Given the description of an element on the screen output the (x, y) to click on. 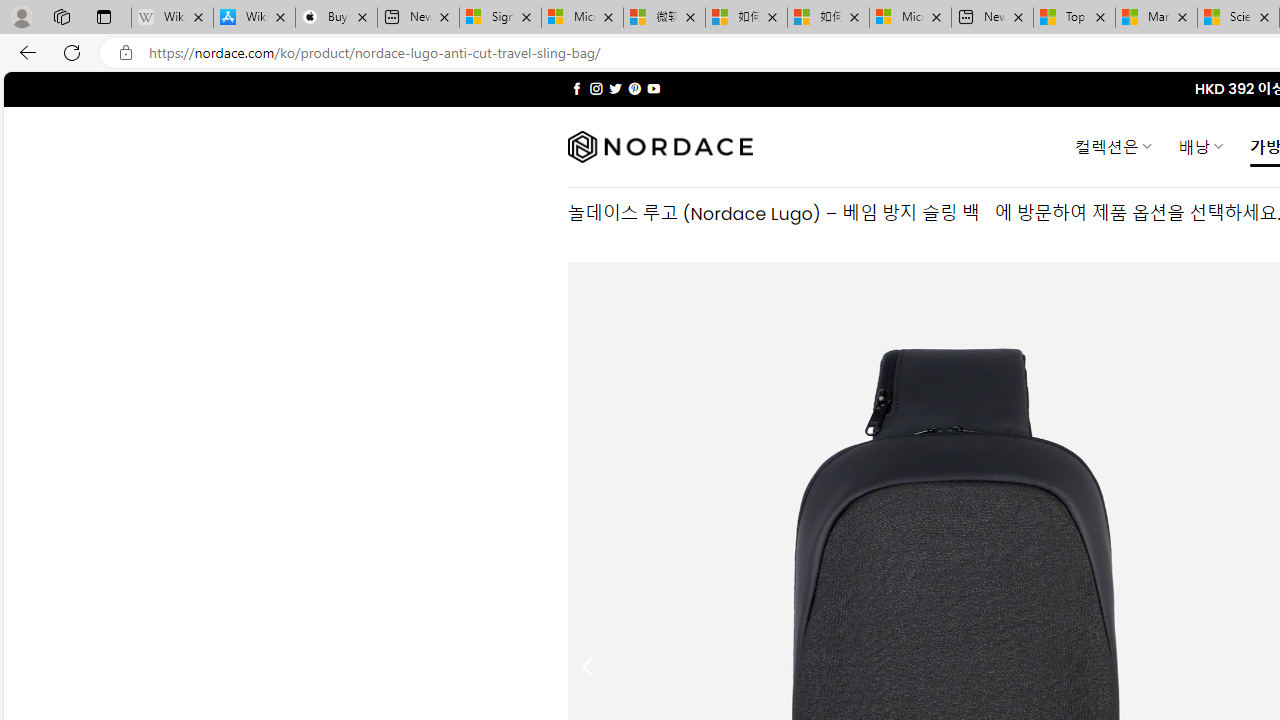
Microsoft Services Agreement (582, 17)
Follow on Twitter (615, 88)
Follow on Instagram (596, 88)
Wikipedia - Sleeping (171, 17)
Microsoft account | Account Checkup (910, 17)
Sign in to your Microsoft account (500, 17)
Follow on YouTube (653, 88)
